Given the description of an element on the screen output the (x, y) to click on. 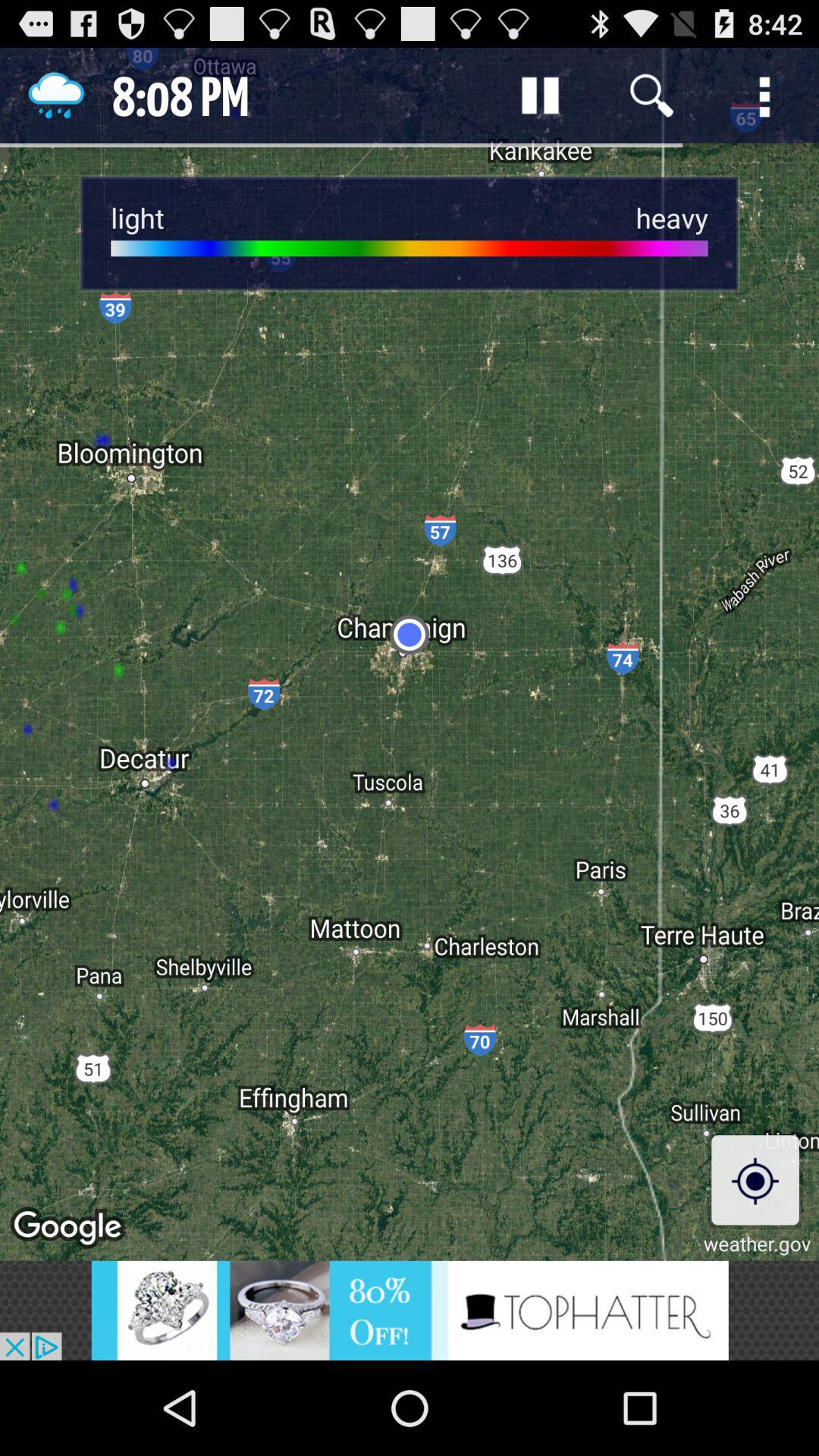
click advertisement (409, 1310)
